Given the description of an element on the screen output the (x, y) to click on. 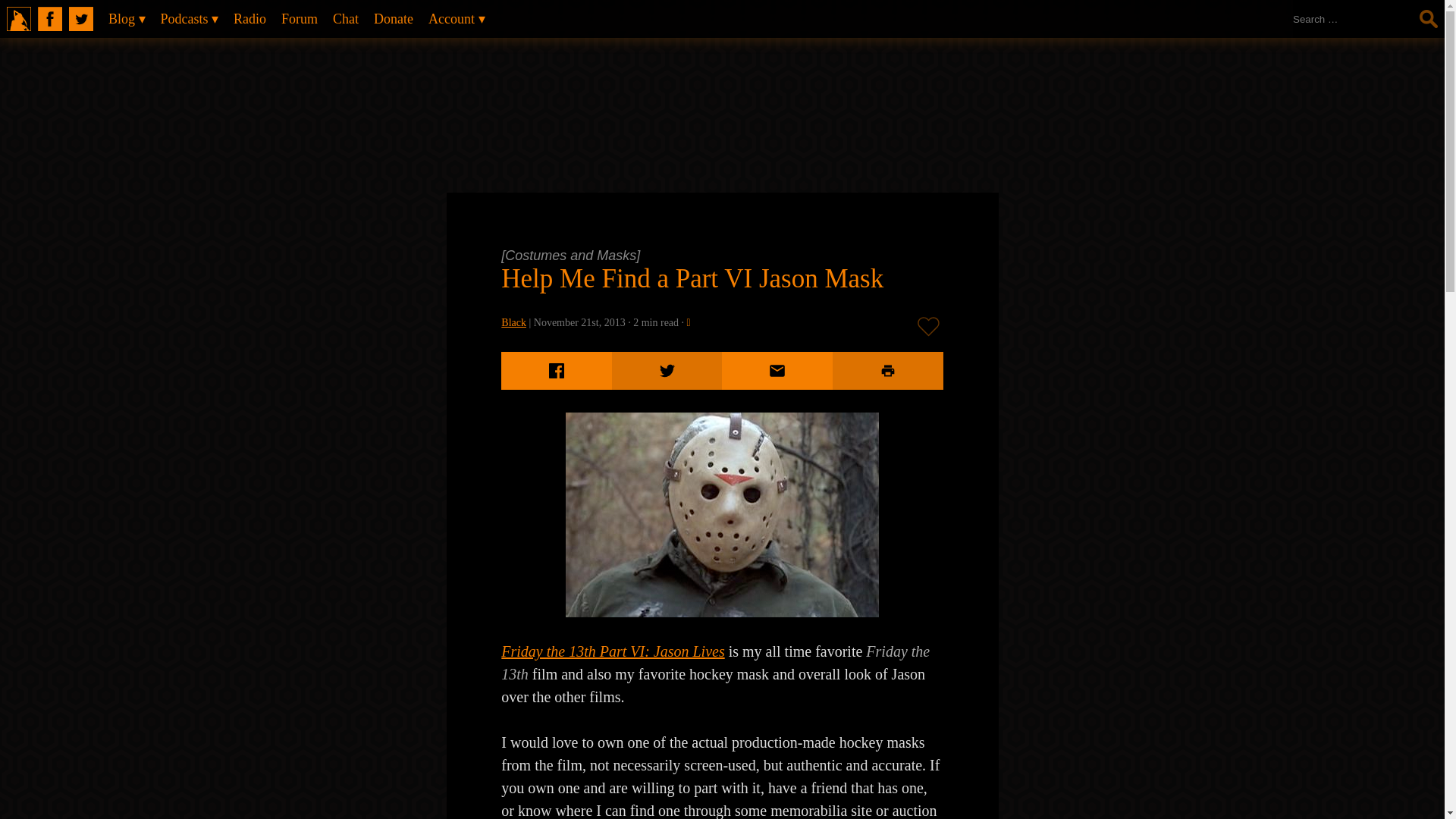
2013-11-21T15:37:57-08:00 (580, 322)
Help Me Find a Part VI Jason Mask (691, 278)
Forum (298, 18)
Radio (249, 18)
Jason Lives (721, 514)
Blog (126, 18)
Print this Article (887, 370)
Posts by Black (512, 322)
Black (512, 322)
Podcasts (189, 18)
Account (456, 18)
Chat (345, 18)
Friday the 13th Part VI: Jason Lives (611, 651)
Help Me Find a Part VI Jason Mask (691, 278)
Donate (393, 18)
